Given the description of an element on the screen output the (x, y) to click on. 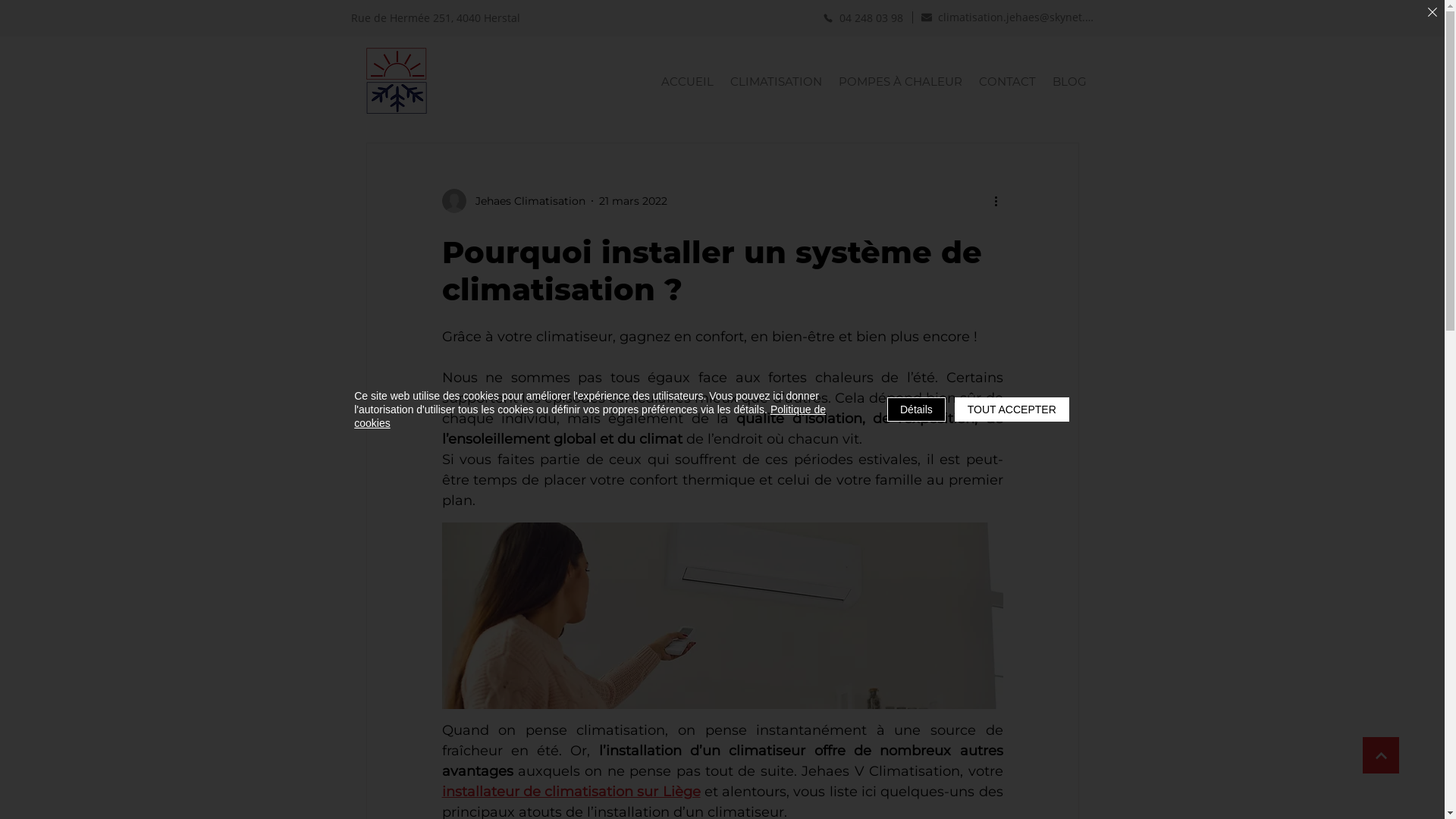
BLOG Element type: text (1069, 81)
Politique de cookies Element type: text (589, 416)
TOUT ACCEPTER Element type: text (1011, 409)
climatisation.jehaes@skynet.be Element type: text (1006, 17)
CONTACT Element type: text (1006, 81)
CLIMATISATION Element type: text (774, 81)
ACCUEIL Element type: text (687, 81)
04 248 03 98 Element type: text (862, 17)
